Given the description of an element on the screen output the (x, y) to click on. 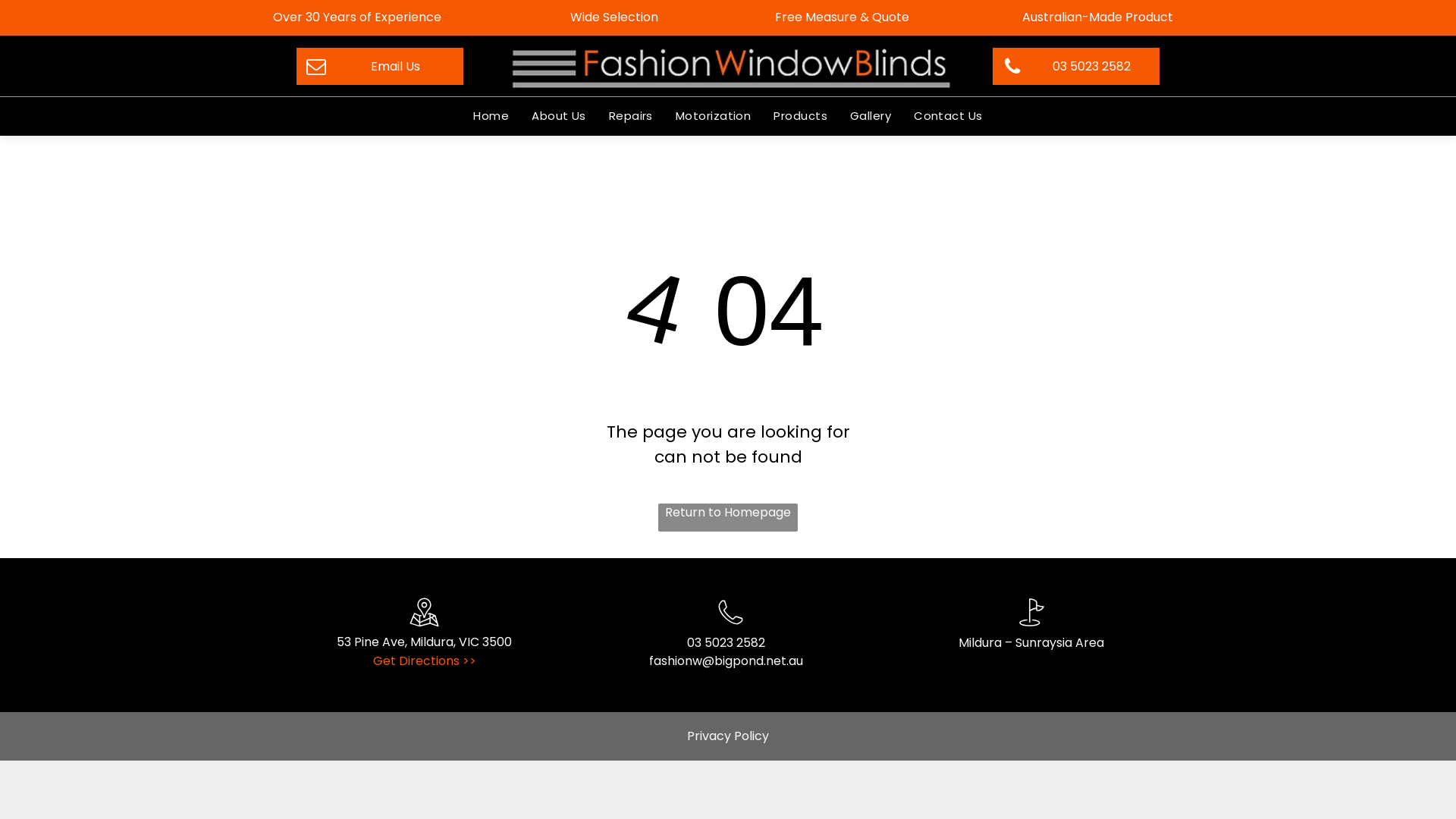
About Us Element type: text (558, 116)
Products Element type: text (800, 116)
Gallery Element type: text (870, 116)
Return to Homepage Element type: text (727, 517)
Motorization Element type: text (713, 116)
03 5023 2582 Element type: text (1075, 65)
fashionw@bigpond.net.au Element type: text (726, 660)
Get Directions >> Element type: text (424, 660)
Home Element type: text (490, 116)
Repairs Element type: text (630, 116)
03 5023 2582 Element type: text (726, 642)
Email Us Element type: text (379, 65)
Contact Us Element type: text (948, 116)
Privacy Policy Element type: text (727, 735)
